Given the description of an element on the screen output the (x, y) to click on. 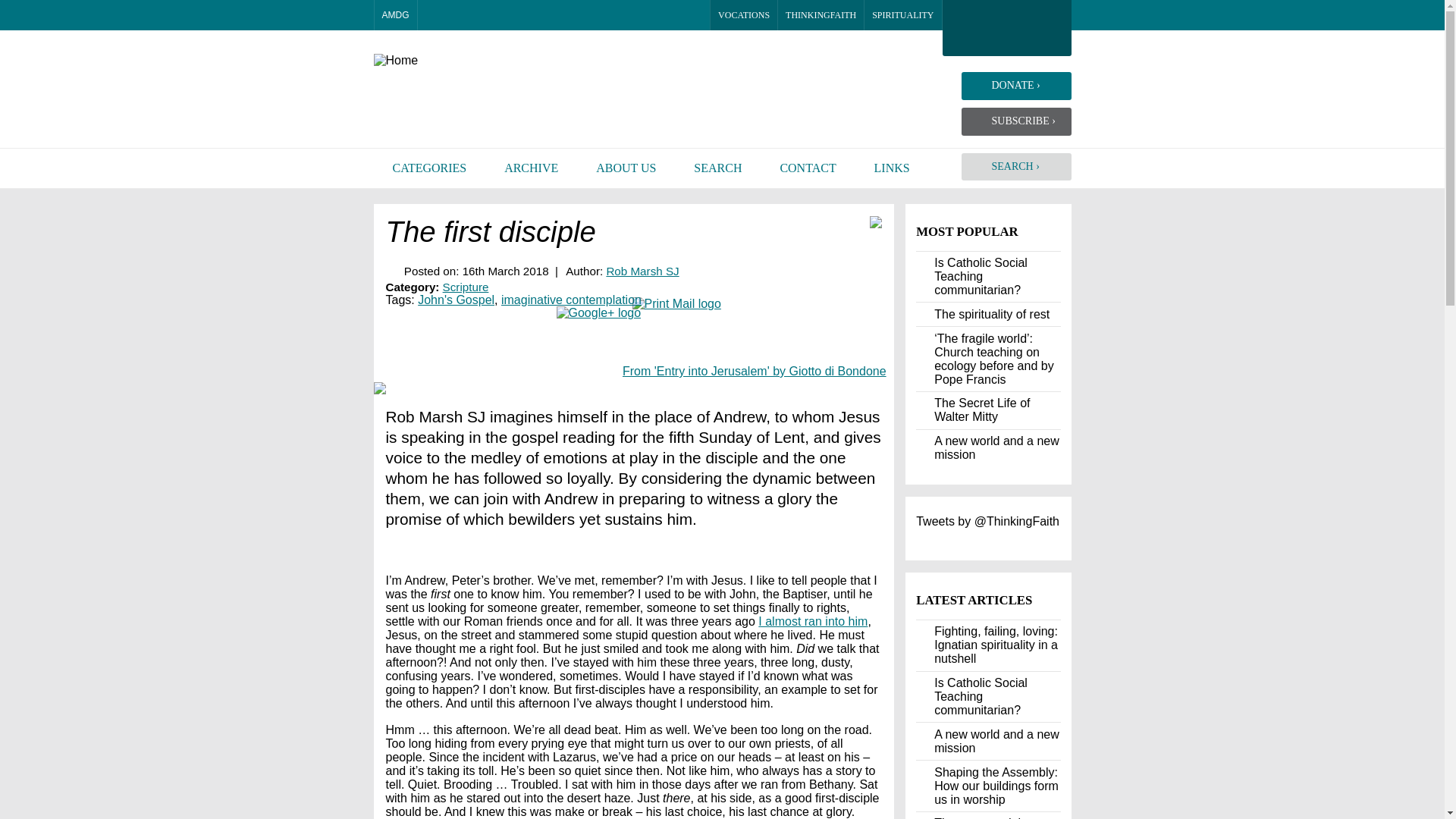
Twitter (483, 15)
John's Gospel (456, 299)
imaginative contemplation (571, 299)
LINKS (892, 168)
Search (434, 15)
I almost ran into him (812, 621)
CONTACT (807, 168)
SEARCH (717, 168)
CATEGORIES (428, 168)
VOCATIONS (743, 15)
ARCHIVE (530, 168)
From 'Entry into Jerusalem' by Giotto di Bondone (754, 370)
Rob Marsh SJ (641, 270)
Home (477, 60)
SPIRITUALITY (903, 15)
